Given the description of an element on the screen output the (x, y) to click on. 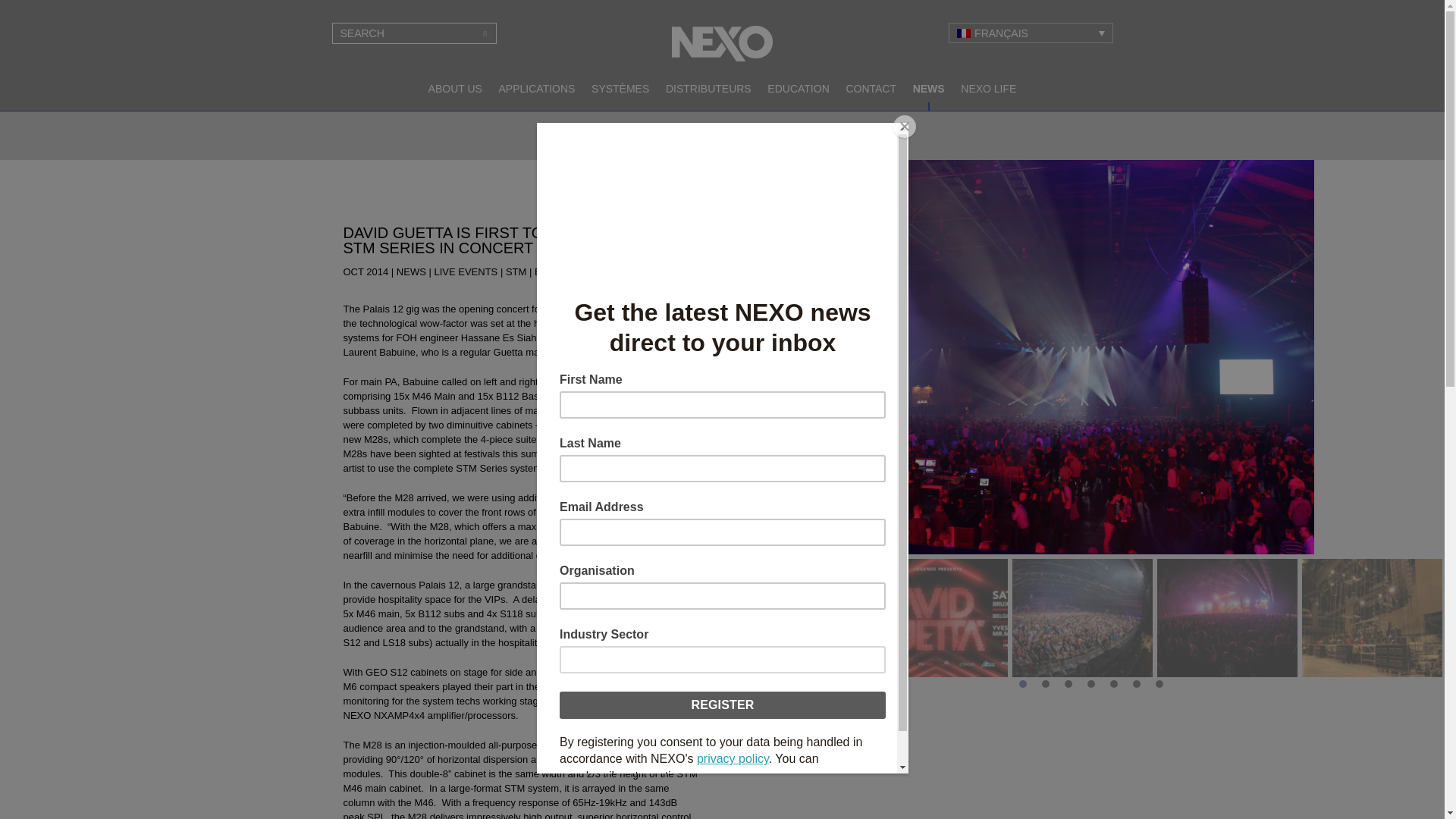
Search for: (413, 33)
SEARCH (485, 33)
APPLICATIONS (537, 89)
ABOUT US (455, 89)
